Given the description of an element on the screen output the (x, y) to click on. 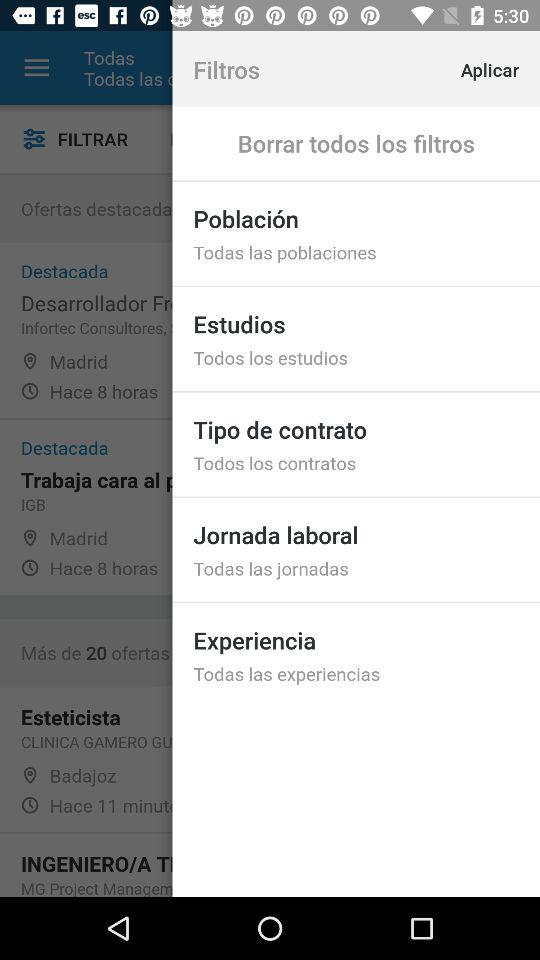
click icon next to filtros item (508, 67)
